Given the description of an element on the screen output the (x, y) to click on. 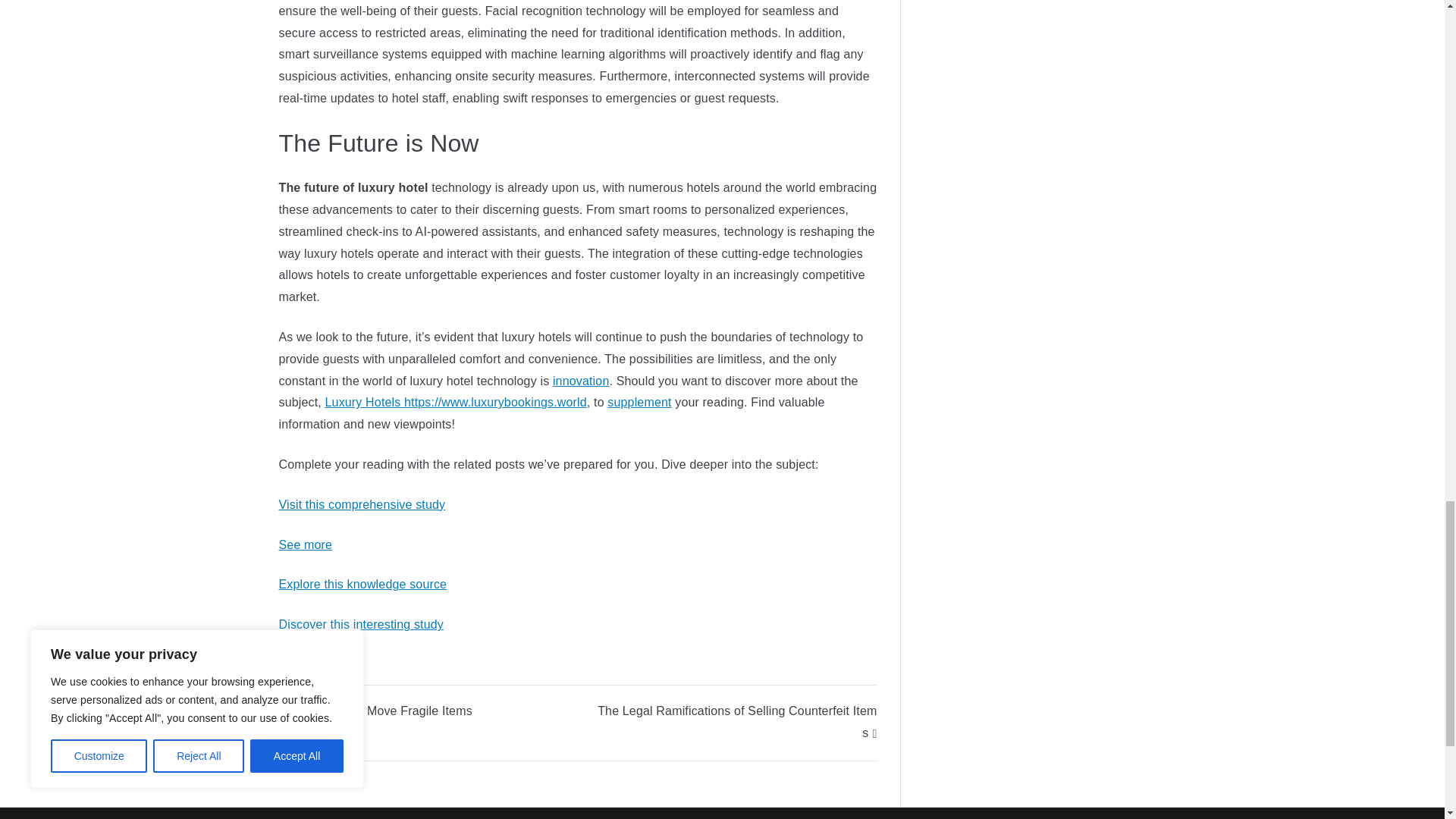
supplement (639, 401)
Discover this interesting study (361, 624)
The Legal Ramifications of Selling Counterfeit Items (736, 721)
See more (306, 544)
Visit this comprehensive study (362, 504)
How to Safely Move Fragile Items (375, 710)
Explore this knowledge source (362, 584)
innovation (581, 380)
